Given the description of an element on the screen output the (x, y) to click on. 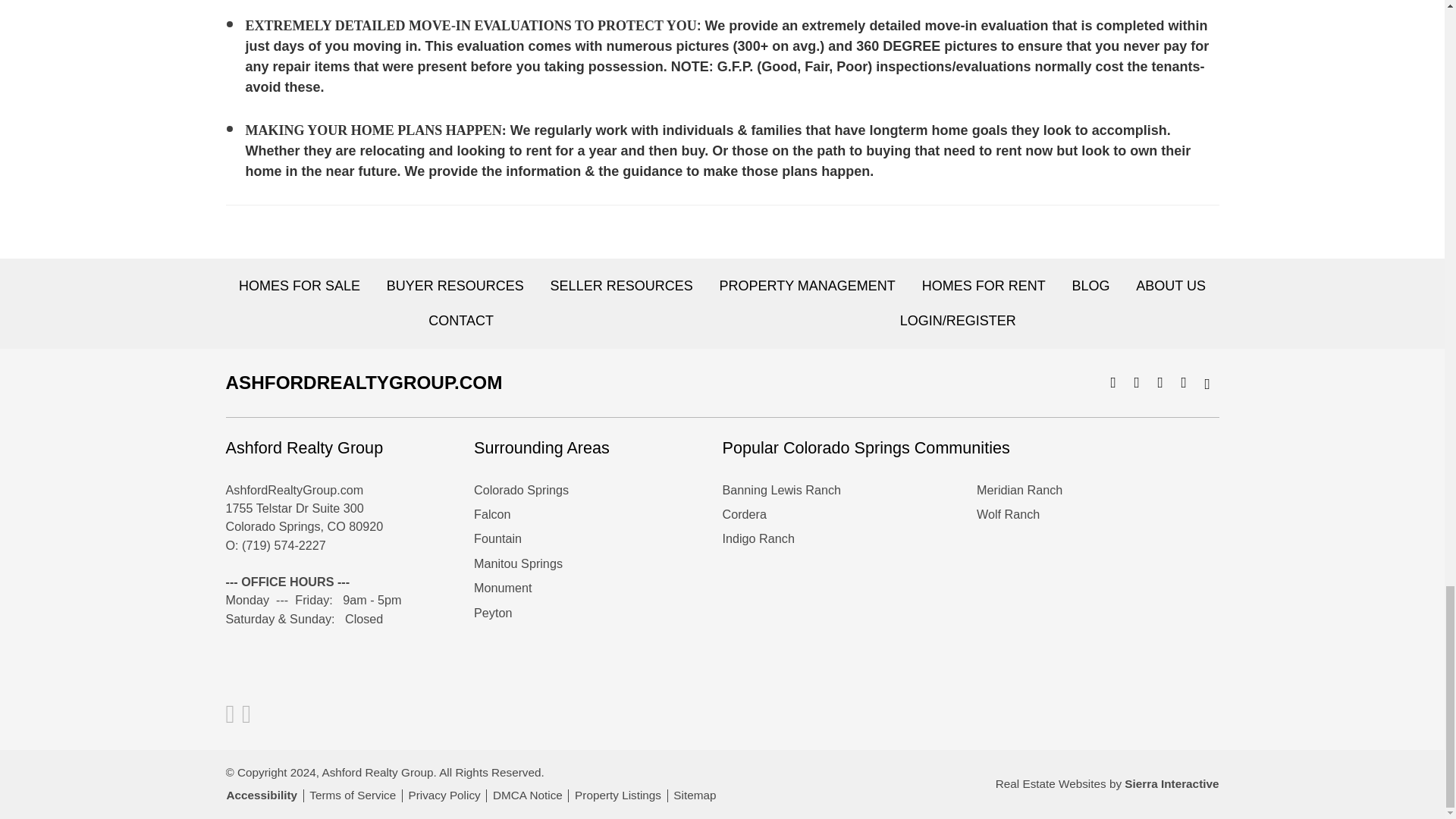
Home Page (338, 384)
